Given the description of an element on the screen output the (x, y) to click on. 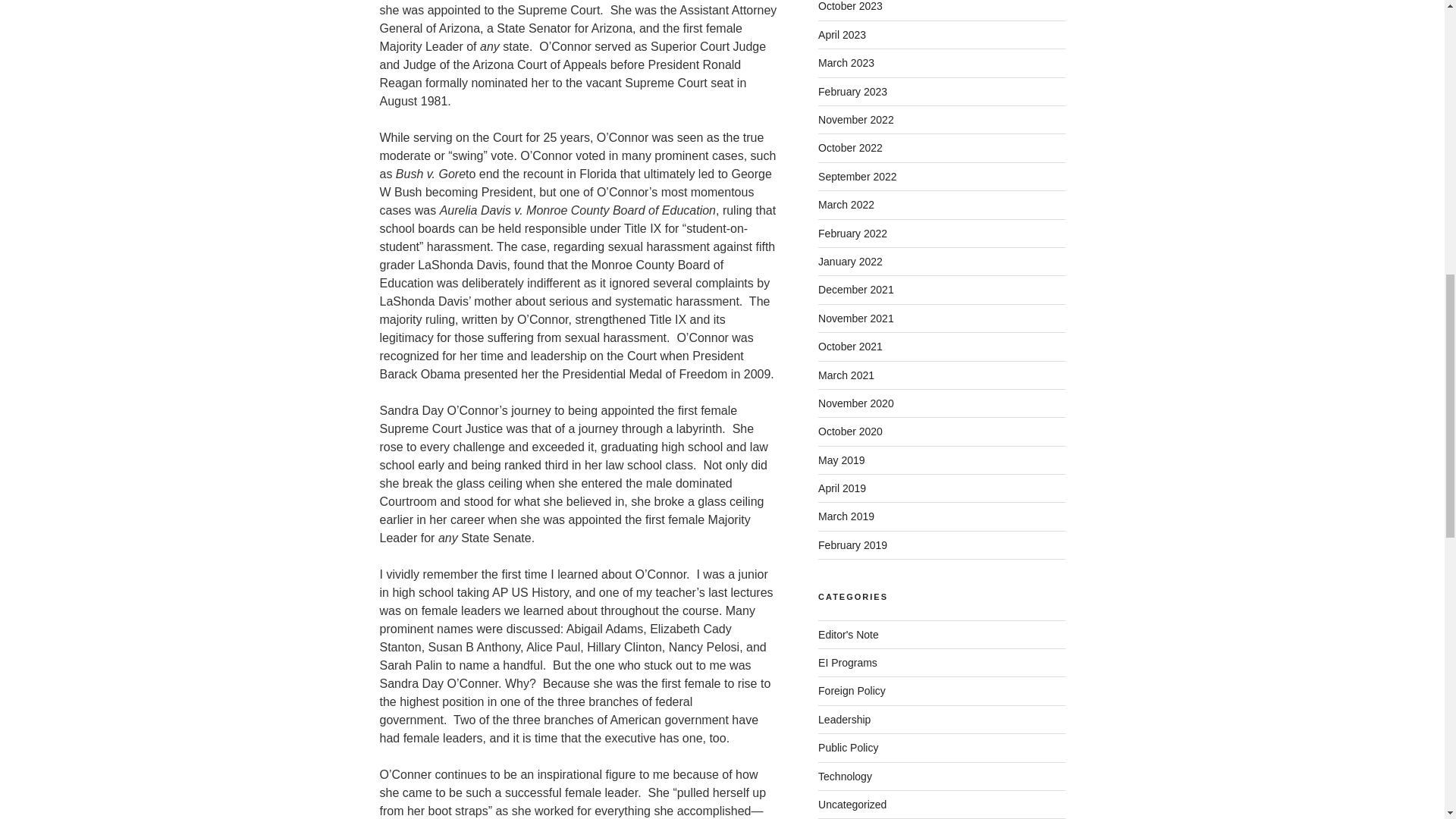
March 2023 (846, 62)
October 2023 (850, 6)
November 2022 (855, 119)
April 2023 (842, 34)
February 2023 (852, 91)
